Given the description of an element on the screen output the (x, y) to click on. 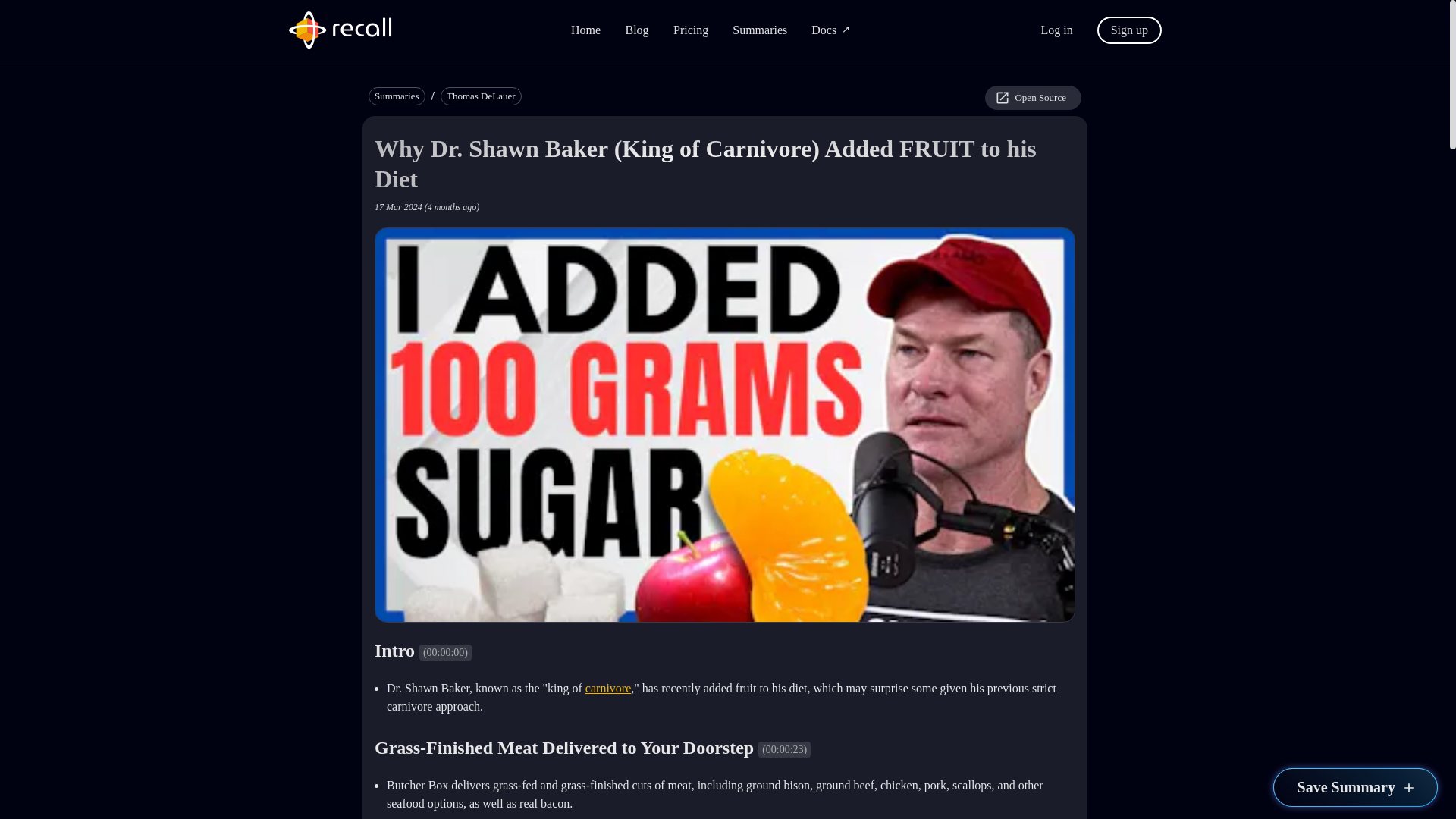
Sign up (1129, 30)
Summaries (759, 30)
Thomas DeLauer (481, 96)
carnivore (607, 687)
Sign up (1129, 29)
Log in (1061, 29)
Pricing (690, 30)
Summaries (396, 96)
Log in (1055, 30)
Open Source (1033, 97)
Blog (636, 30)
Home (585, 30)
